Given the description of an element on the screen output the (x, y) to click on. 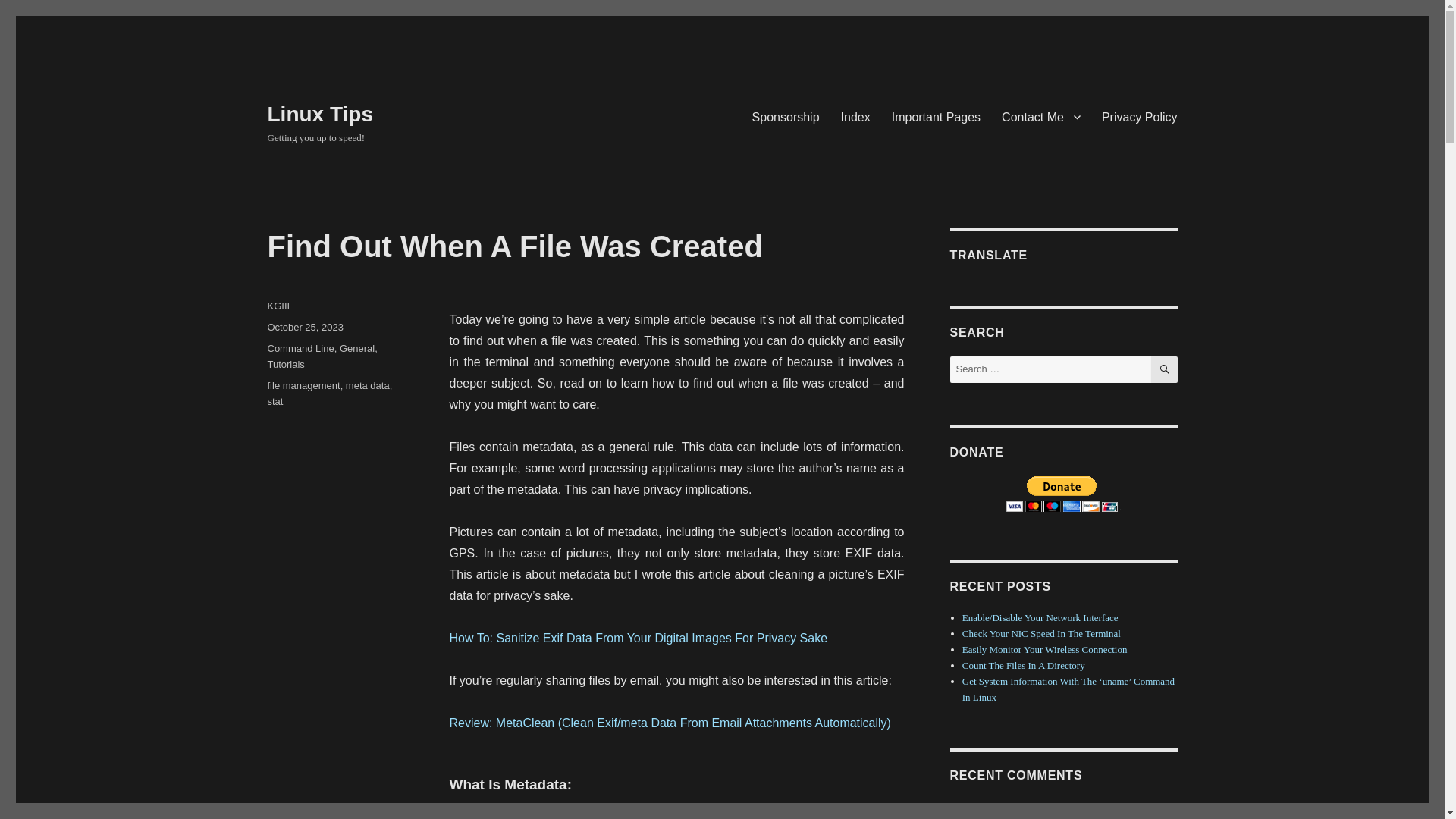
Linux Tips (319, 114)
Command Line (299, 348)
Index (854, 116)
Contact Me (1040, 116)
Sponsorship (785, 116)
Privacy Policy (1139, 116)
Tutorials (285, 364)
file management (302, 385)
